Given the description of an element on the screen output the (x, y) to click on. 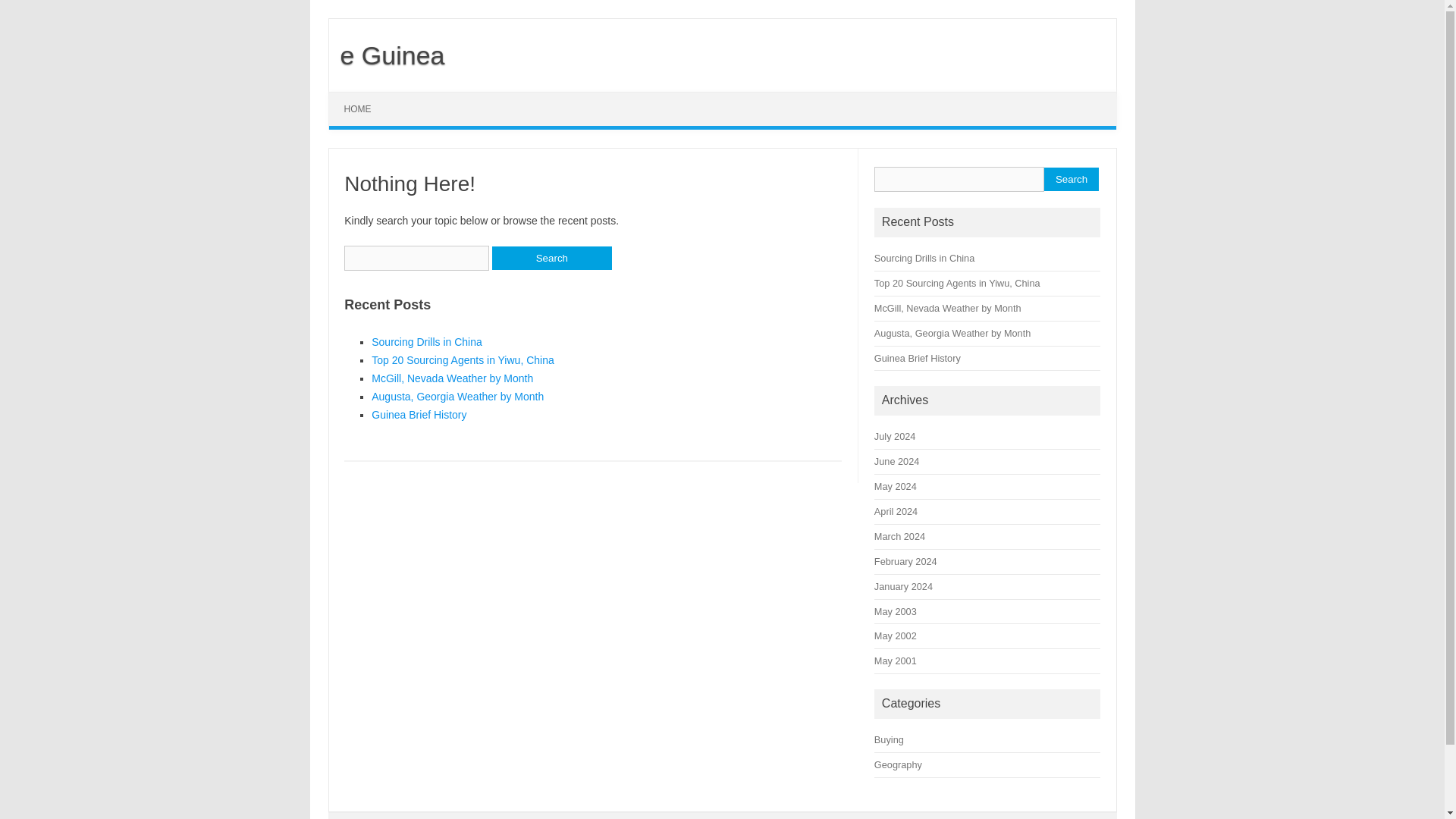
May 2002 (896, 635)
e Guinea (387, 54)
e Guinea (387, 54)
Top 20 Sourcing Agents in Yiwu, China (958, 283)
Geography (898, 764)
Guinea Brief History (418, 414)
March 2024 (899, 536)
Top 20 Sourcing Agents in Yiwu, China (462, 359)
February 2024 (906, 561)
Search (1070, 178)
